Given the description of an element on the screen output the (x, y) to click on. 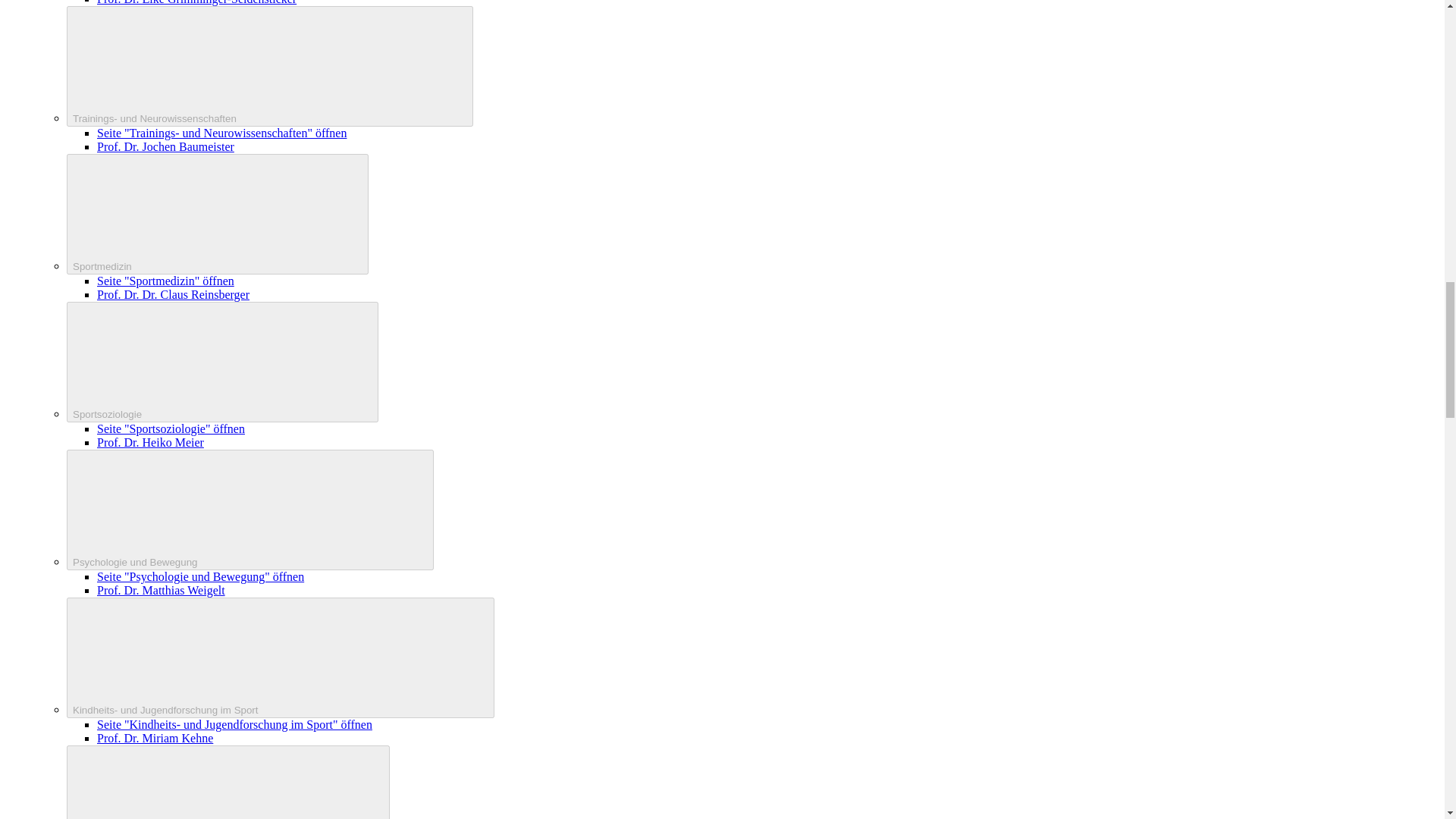
toggle submenu (269, 65)
toggle submenu (249, 509)
Prof. Dr. Jochen Baumeister (165, 146)
Trainings- und Neurowissenschaften (269, 65)
toggle submenu (217, 213)
toggle submenu (280, 657)
toggle submenu (222, 362)
Prof. Dr. Elke Grimminger-Seidensticker (197, 2)
toggle submenu (228, 782)
